Given the description of an element on the screen output the (x, y) to click on. 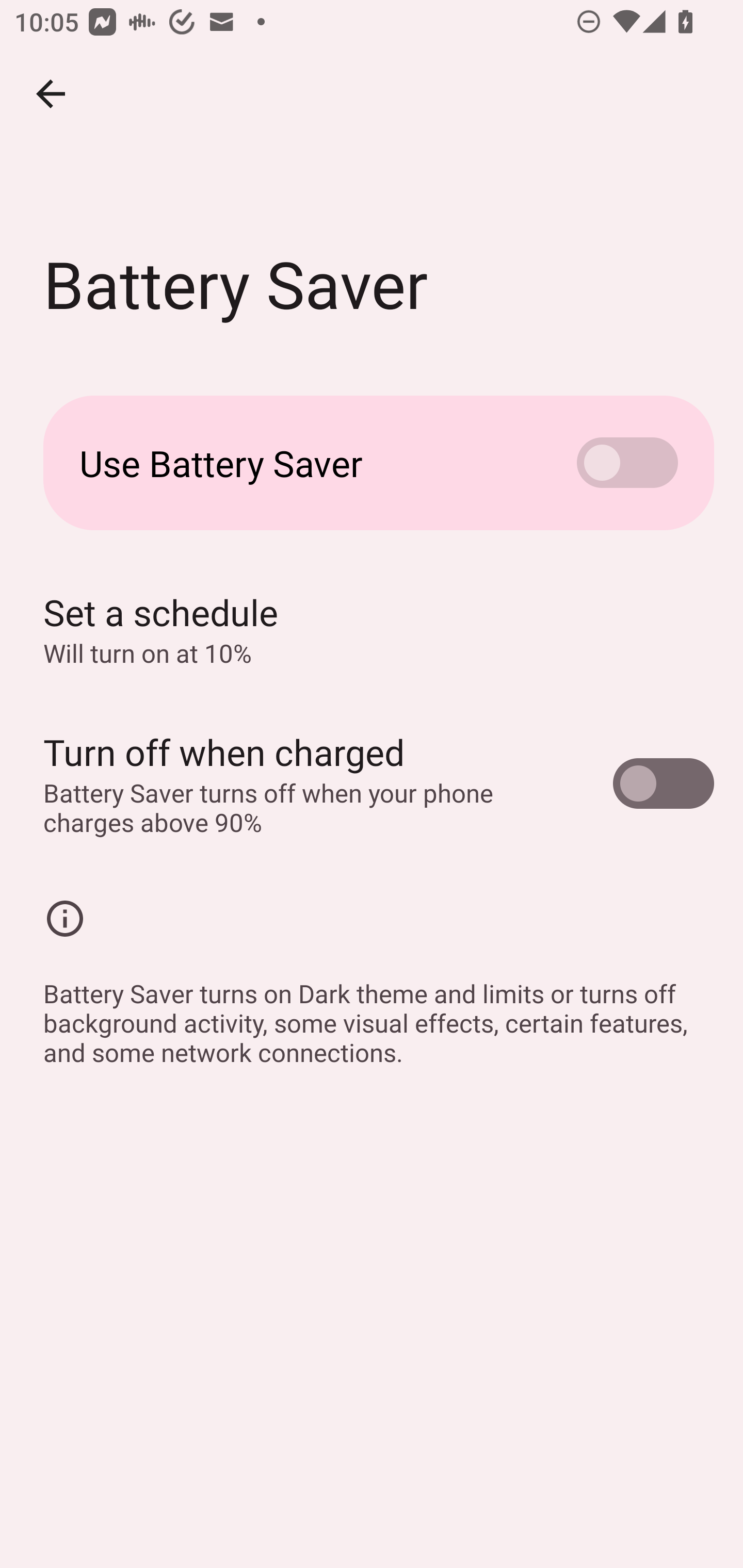
Navigate up (50, 93)
Use Battery Saver (371, 462)
Set a schedule Will turn on at 10% (371, 629)
